Given the description of an element on the screen output the (x, y) to click on. 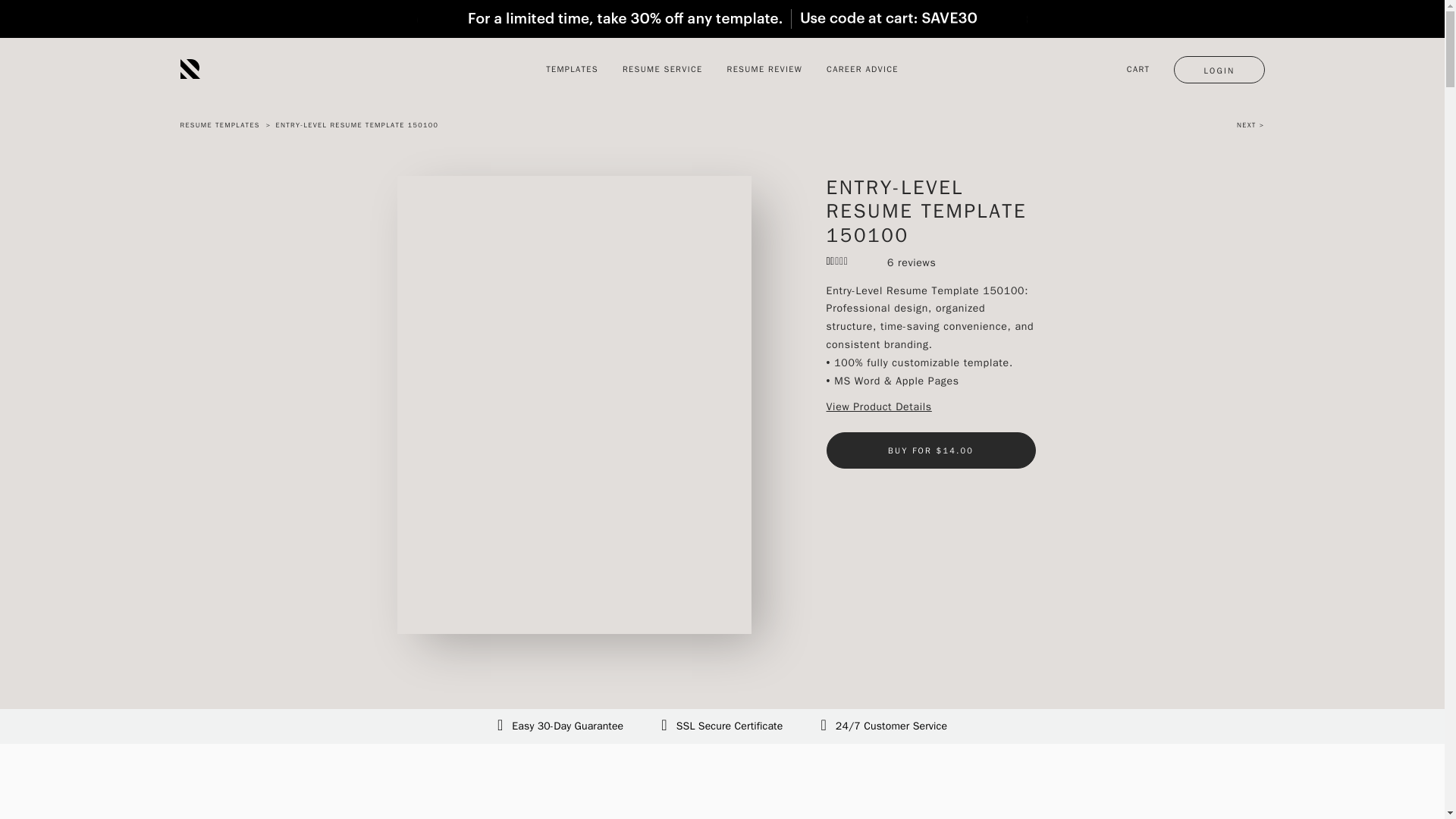
RESUME TEMPLATES (221, 124)
CAREER ADVICE (862, 68)
RESUME SERVICE (663, 68)
TEMPLATES (572, 68)
RESUME REVIEW (764, 68)
CART (1141, 68)
6 reviews (911, 263)
View Product Details (879, 407)
LOGIN (1218, 69)
